Given the description of an element on the screen output the (x, y) to click on. 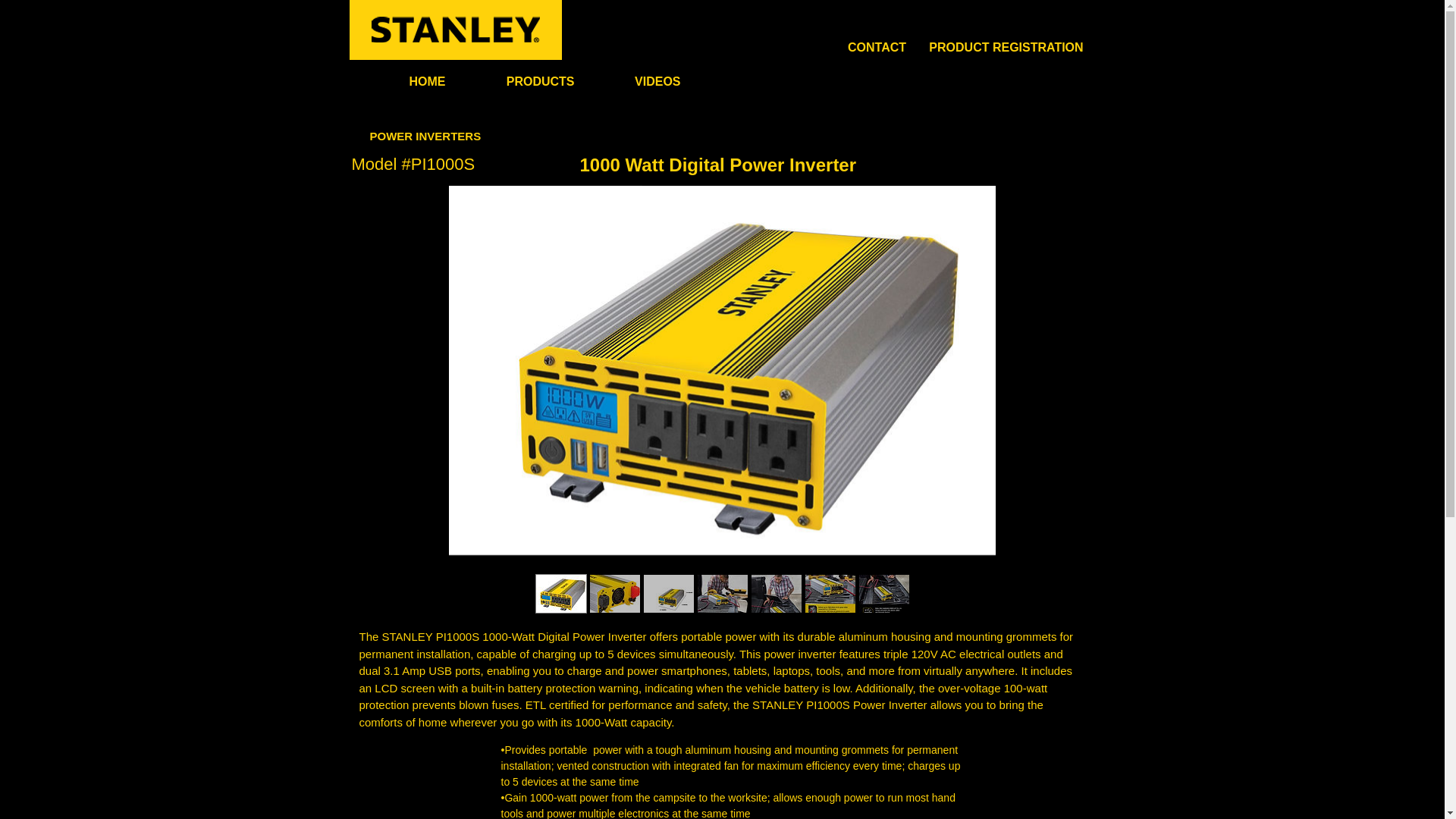
HOME (406, 81)
VIDEOS (636, 81)
CONTACT (877, 47)
PRODUCTS (518, 81)
PRODUCT REGISTRATION (1006, 47)
